Given the description of an element on the screen output the (x, y) to click on. 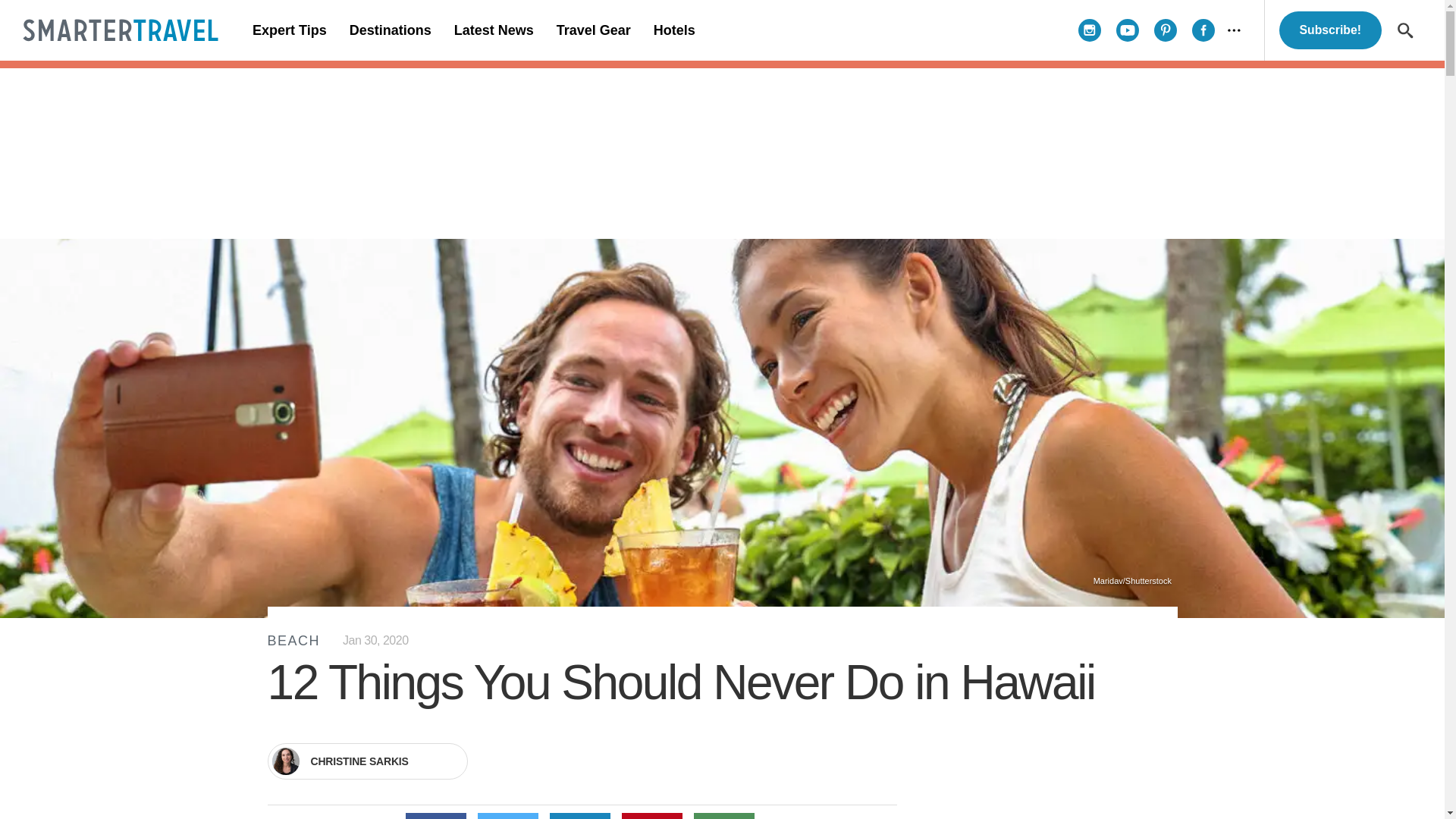
Latest News (493, 30)
Destinations (389, 30)
Expert Tips (289, 30)
Hotels (674, 30)
Travel Gear (593, 30)
Subscribe! (1330, 30)
